Given the description of an element on the screen output the (x, y) to click on. 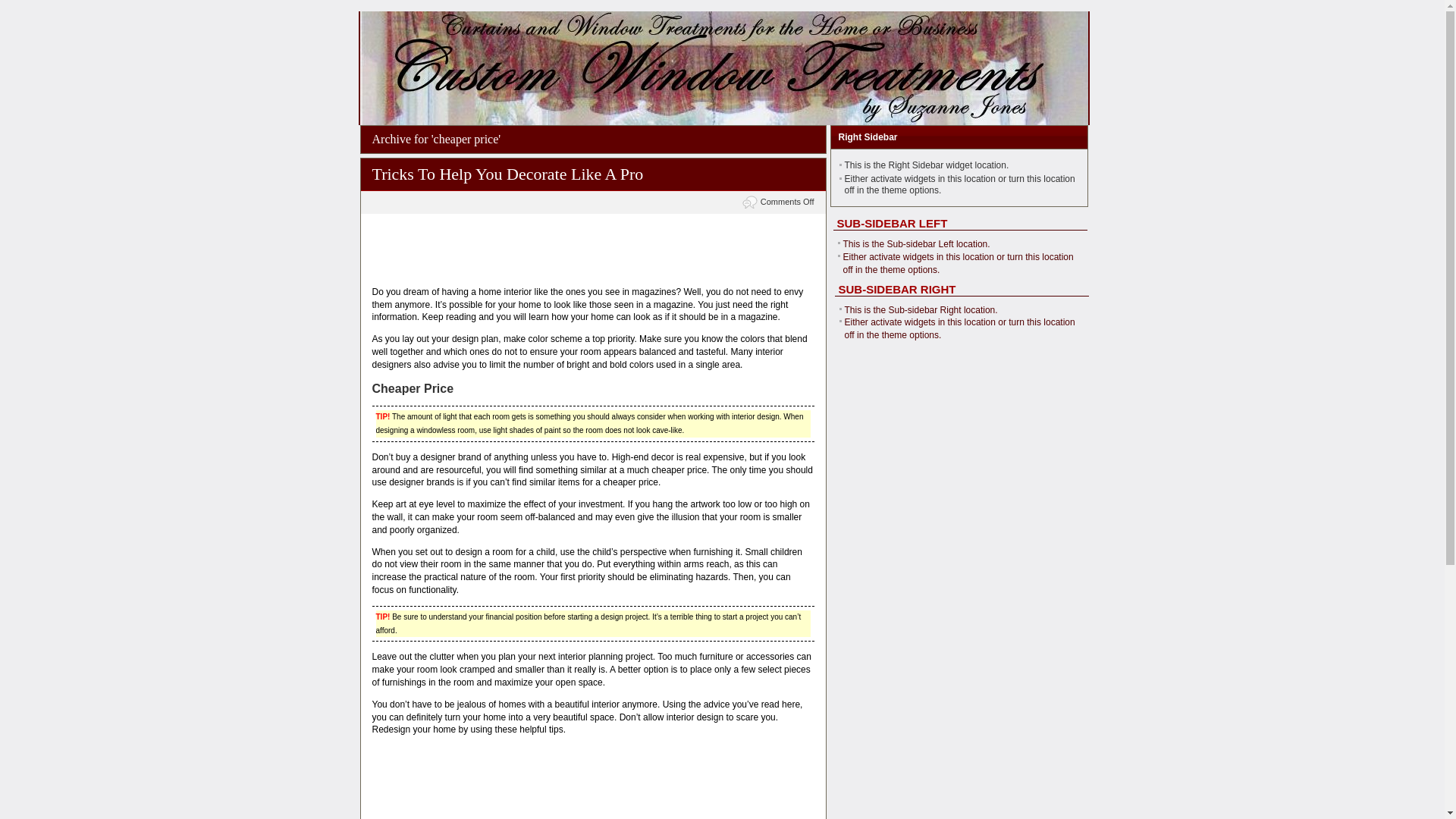
Permanent Link to Tricks To Help You Decorate Like A Pro (507, 173)
Advertisement (592, 249)
Tricks To Help You Decorate Like A Pro (507, 173)
Advertisement (592, 768)
